Given the description of an element on the screen output the (x, y) to click on. 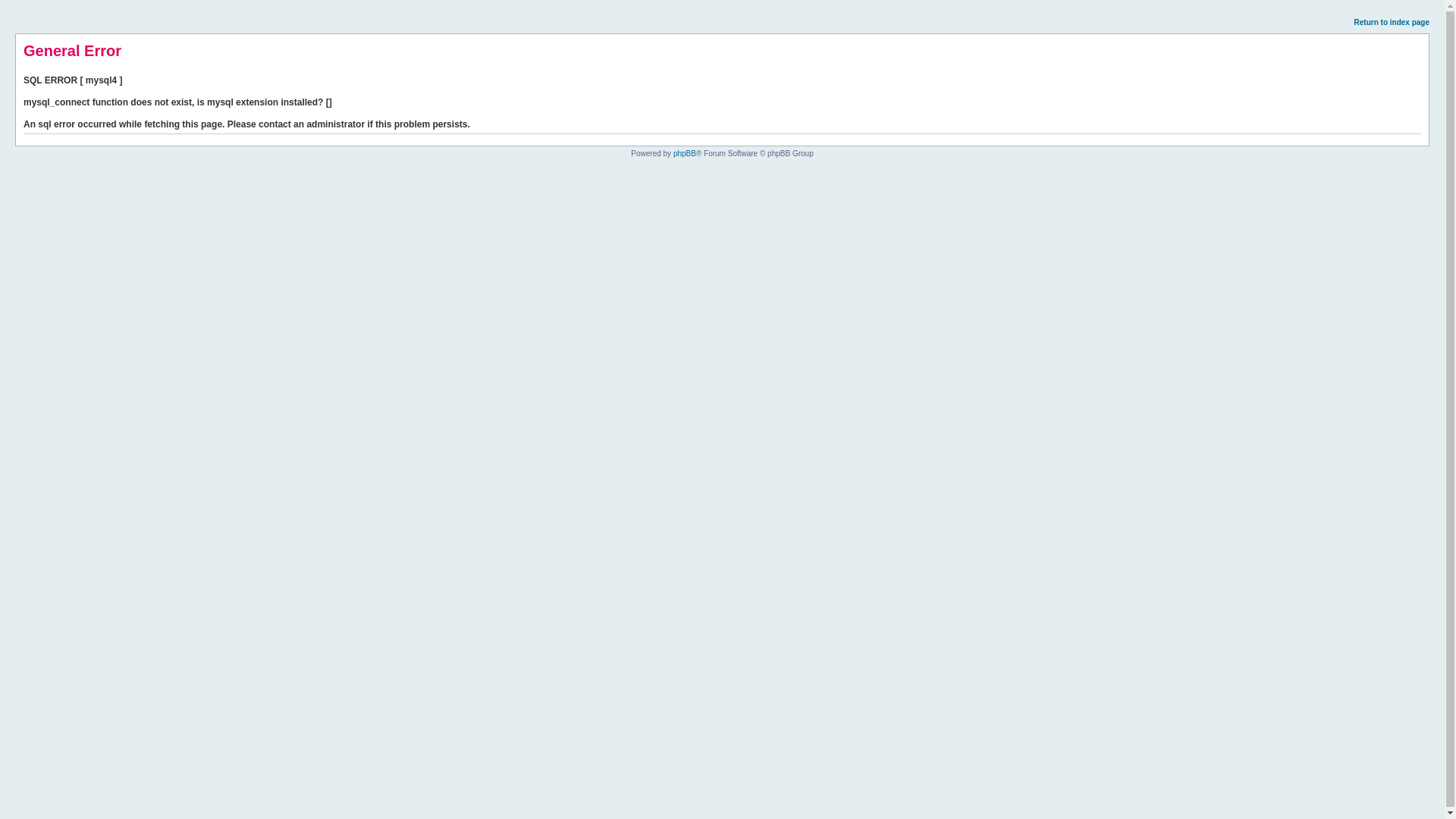
phpBB Element type: text (684, 153)
Return to index page Element type: text (1391, 22)
